Given the description of an element on the screen output the (x, y) to click on. 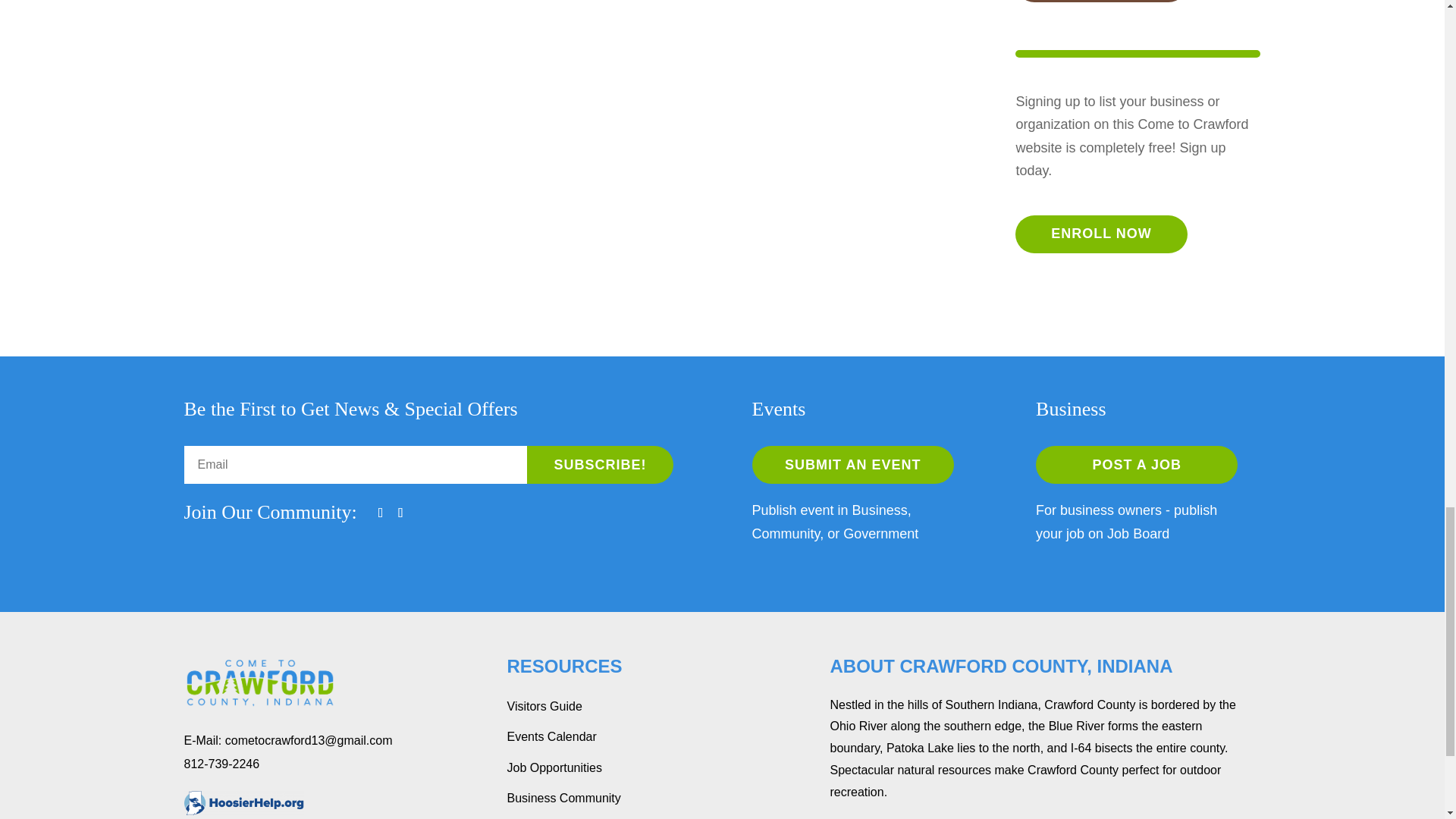
ENROLL NOW (1100, 234)
GET THE GUIDE (1100, 1)
SUBMIT AN EVENT (852, 464)
SUBSCRIBE! (600, 464)
